Given the description of an element on the screen output the (x, y) to click on. 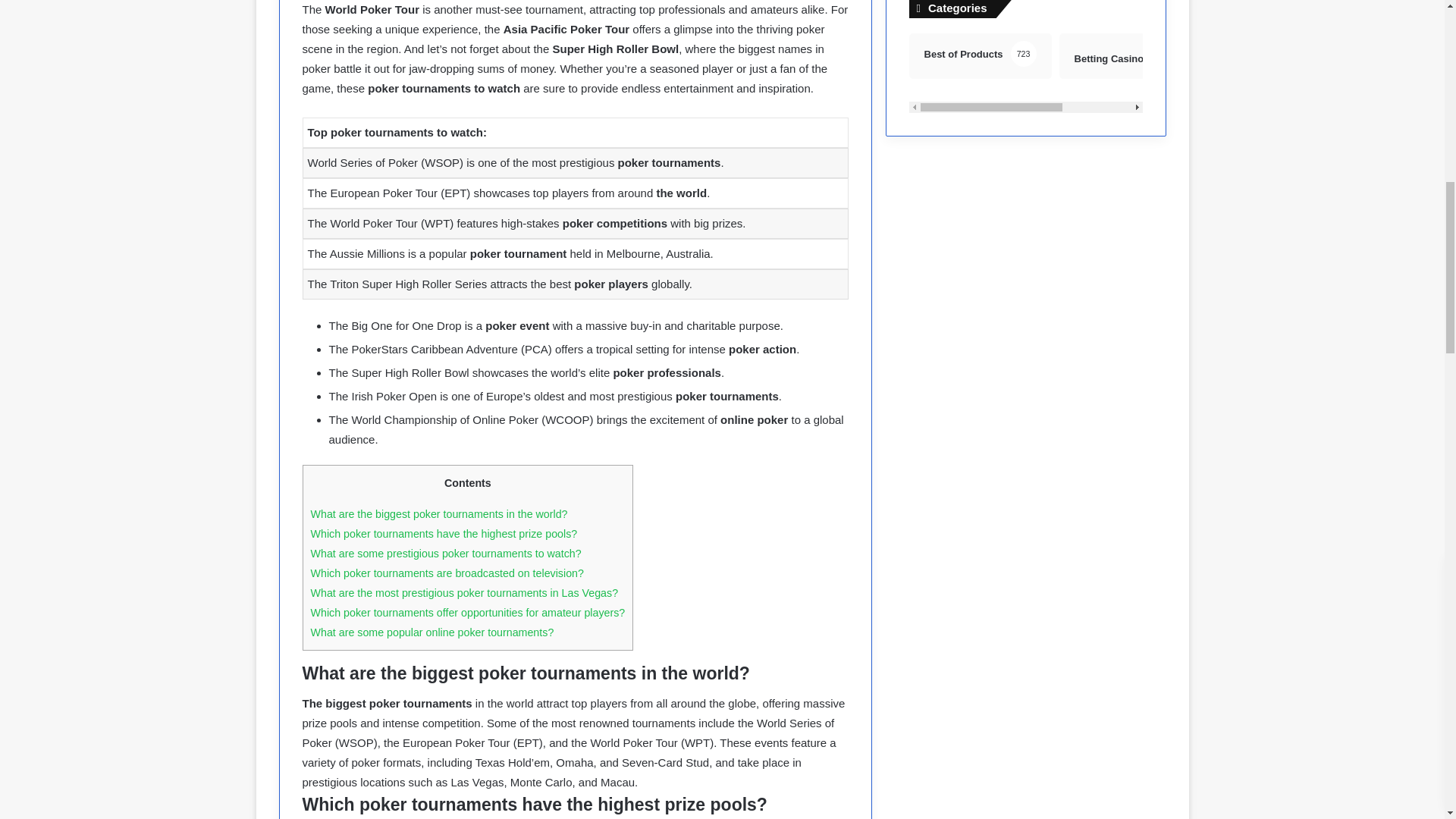
What are some popular online poker tournaments? (1025, 73)
What are some prestigious poker tournaments to watch? (432, 632)
What are the biggest poker tournaments in the world? (445, 553)
Which poker tournaments are broadcasted on television? (439, 513)
Which poker tournaments have the highest prize pools? (447, 573)
